Given the description of an element on the screen output the (x, y) to click on. 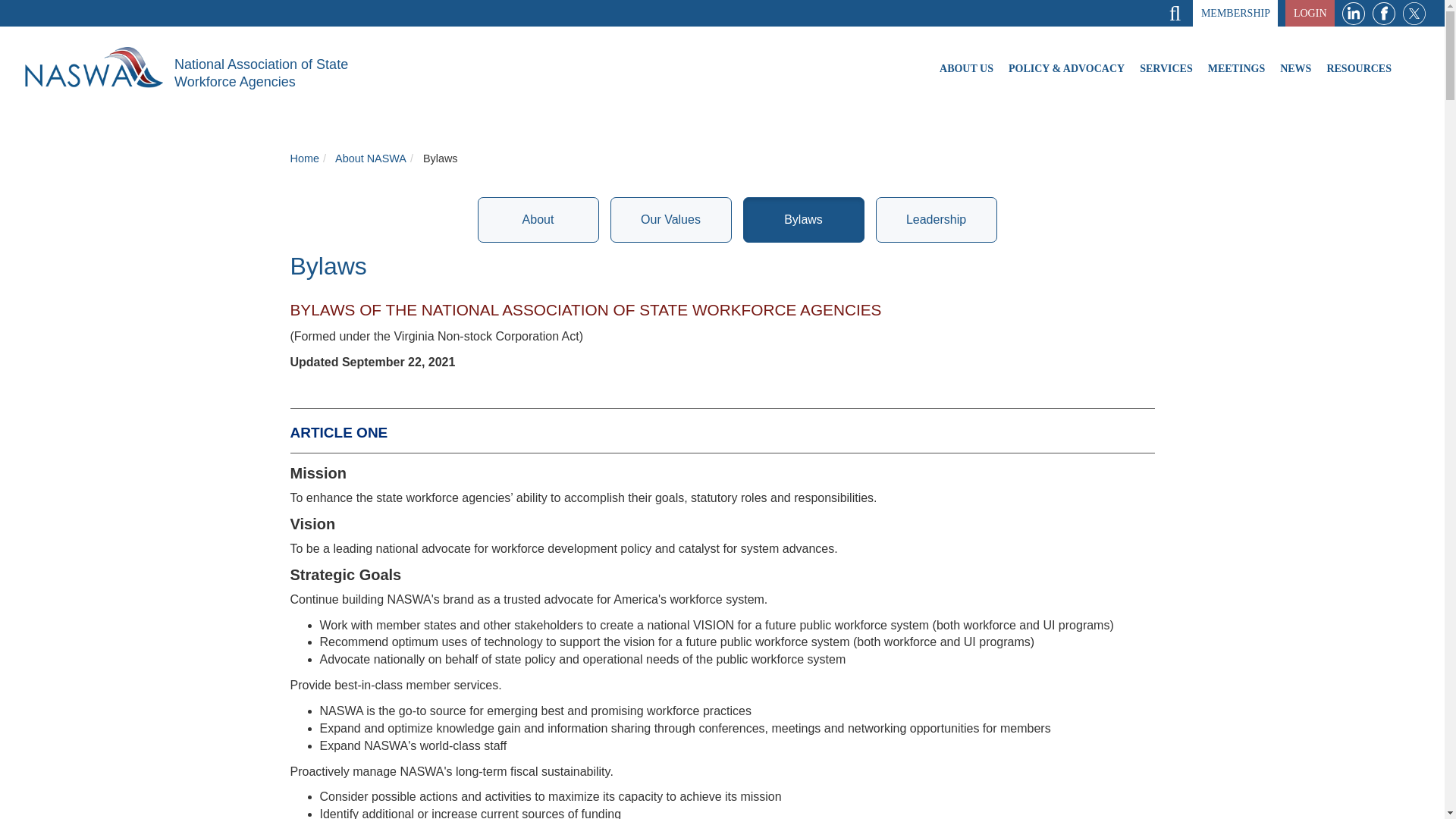
Search (1215, 12)
Home (98, 66)
LOGIN (1310, 13)
MEMBERSHIP (1235, 13)
